Given the description of an element on the screen output the (x, y) to click on. 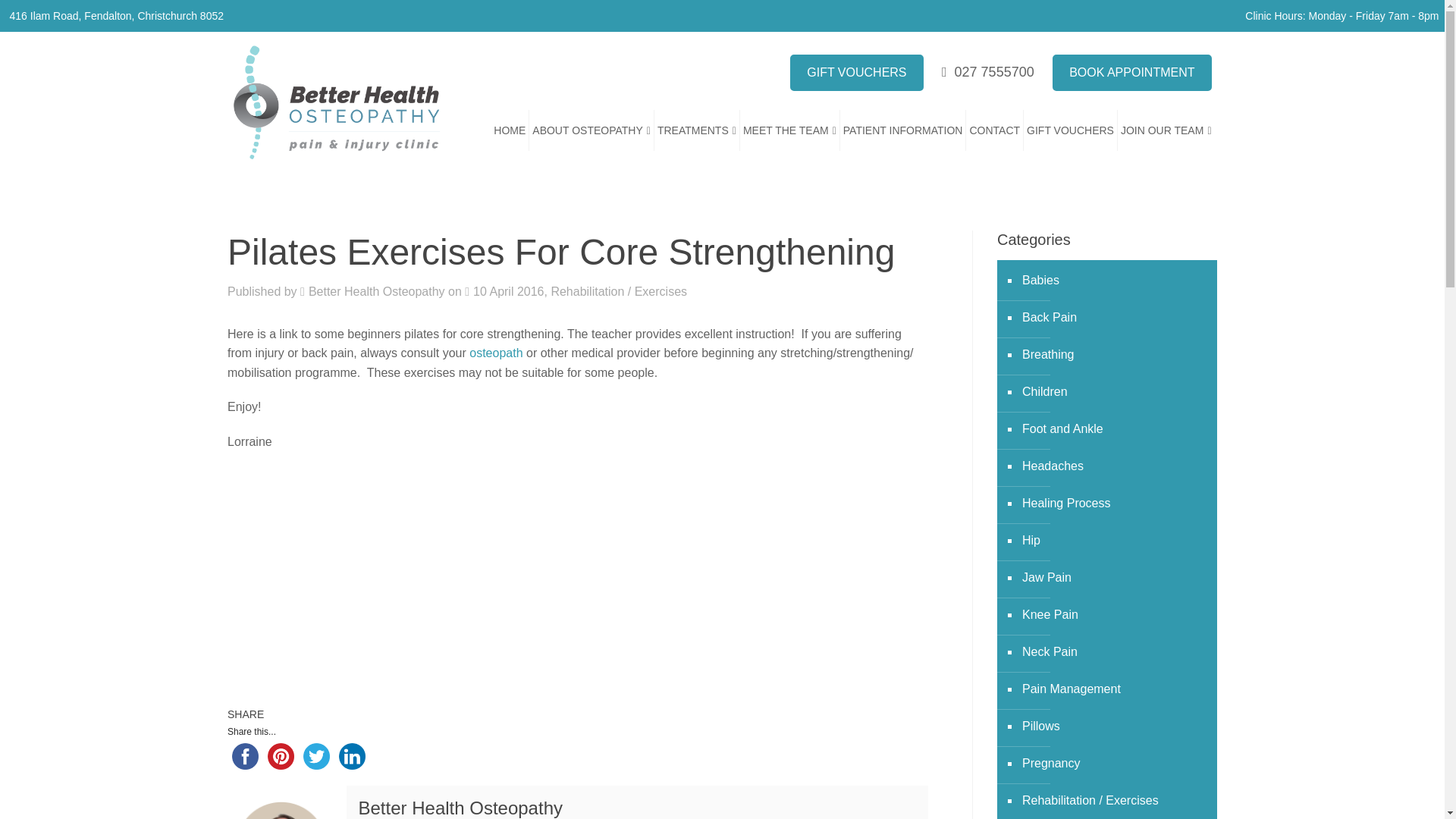
GIFT VOUCHERS (856, 72)
HOME (509, 130)
facebook (245, 755)
Pilates for Beginners, Abs, Core, Butt, Cardio 30 Mins (417, 573)
twitter (316, 755)
BOOK APPOINTMENT (1131, 72)
027 7555700 (987, 71)
TREATMENTS (697, 130)
linkedin (351, 755)
pinterest (280, 755)
ABOUT OSTEOPATHY (591, 130)
